Given the description of an element on the screen output the (x, y) to click on. 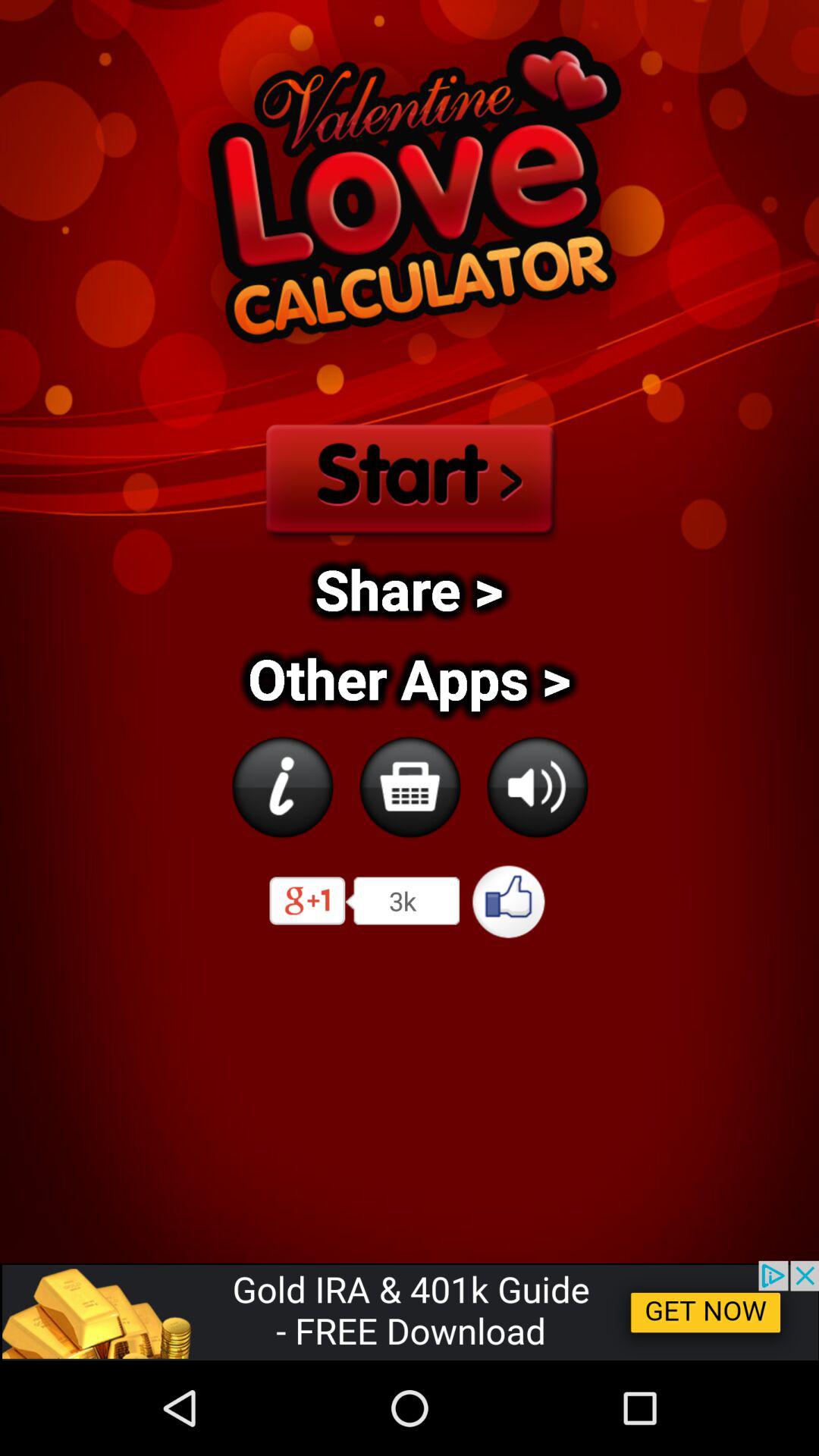
facebook like (509, 900)
